Given the description of an element on the screen output the (x, y) to click on. 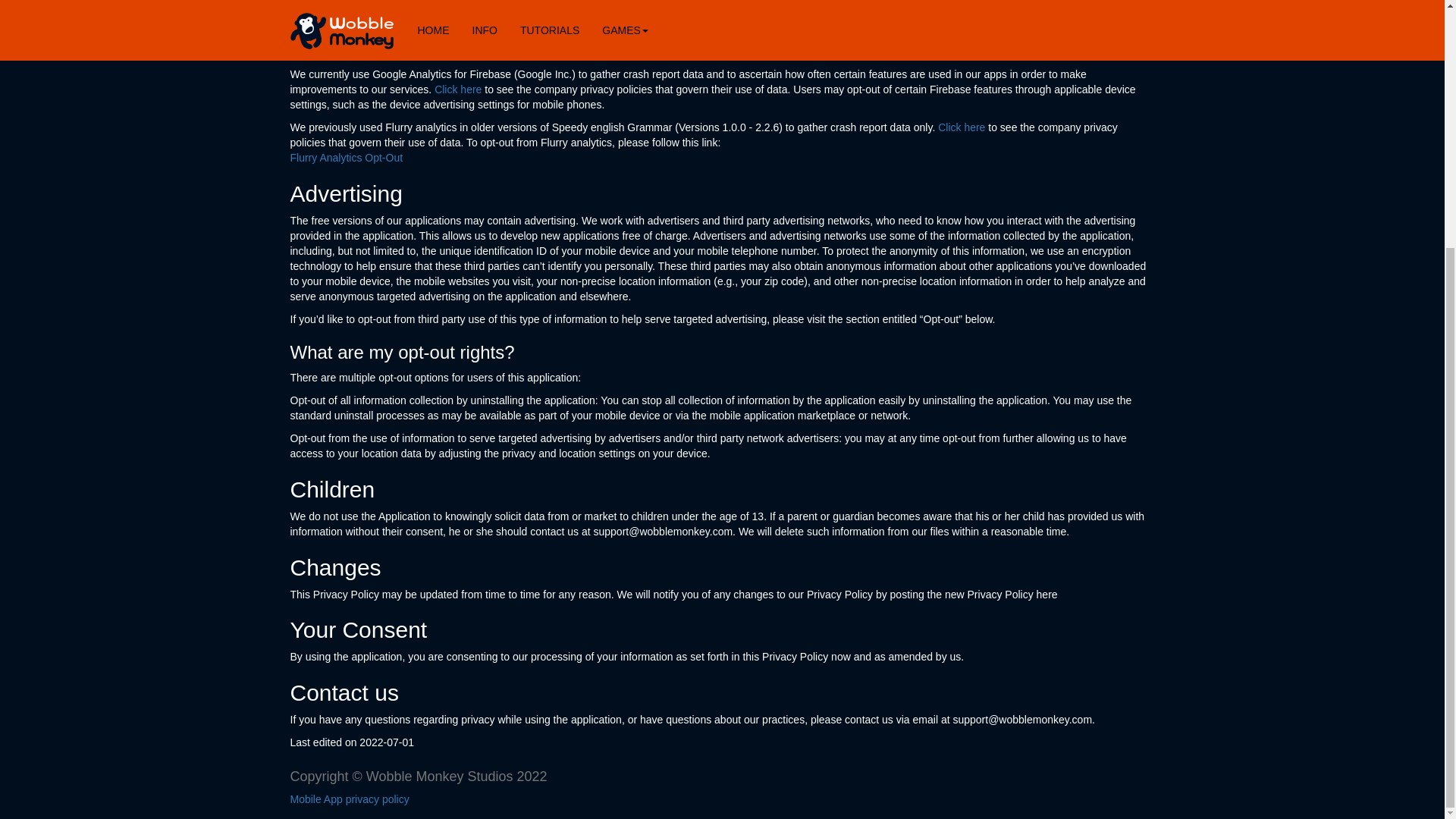
Click here (457, 89)
Mobile App privacy policy (351, 799)
Click here (961, 127)
Flurry Analytics Opt-Out (346, 157)
